Given the description of an element on the screen output the (x, y) to click on. 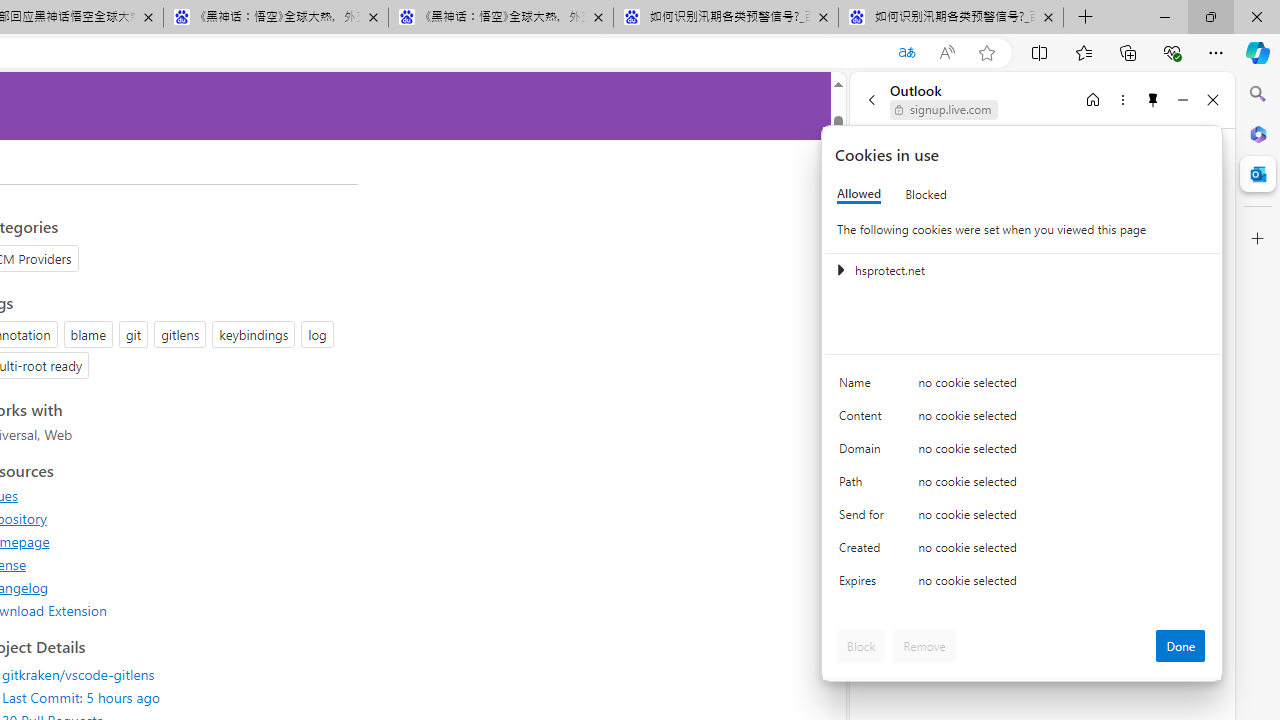
Blocked (925, 193)
Remove (924, 645)
Done (1179, 645)
Allowed (859, 193)
Path (864, 485)
Block (861, 645)
Class: c0153 c0157 (1023, 584)
Expires (864, 585)
Name (864, 387)
Send for (864, 518)
Domain (864, 452)
Content (864, 420)
Class: c0153 c0157 c0154 (1023, 386)
Created (864, 552)
no cookie selected (1062, 585)
